Given the description of an element on the screen output the (x, y) to click on. 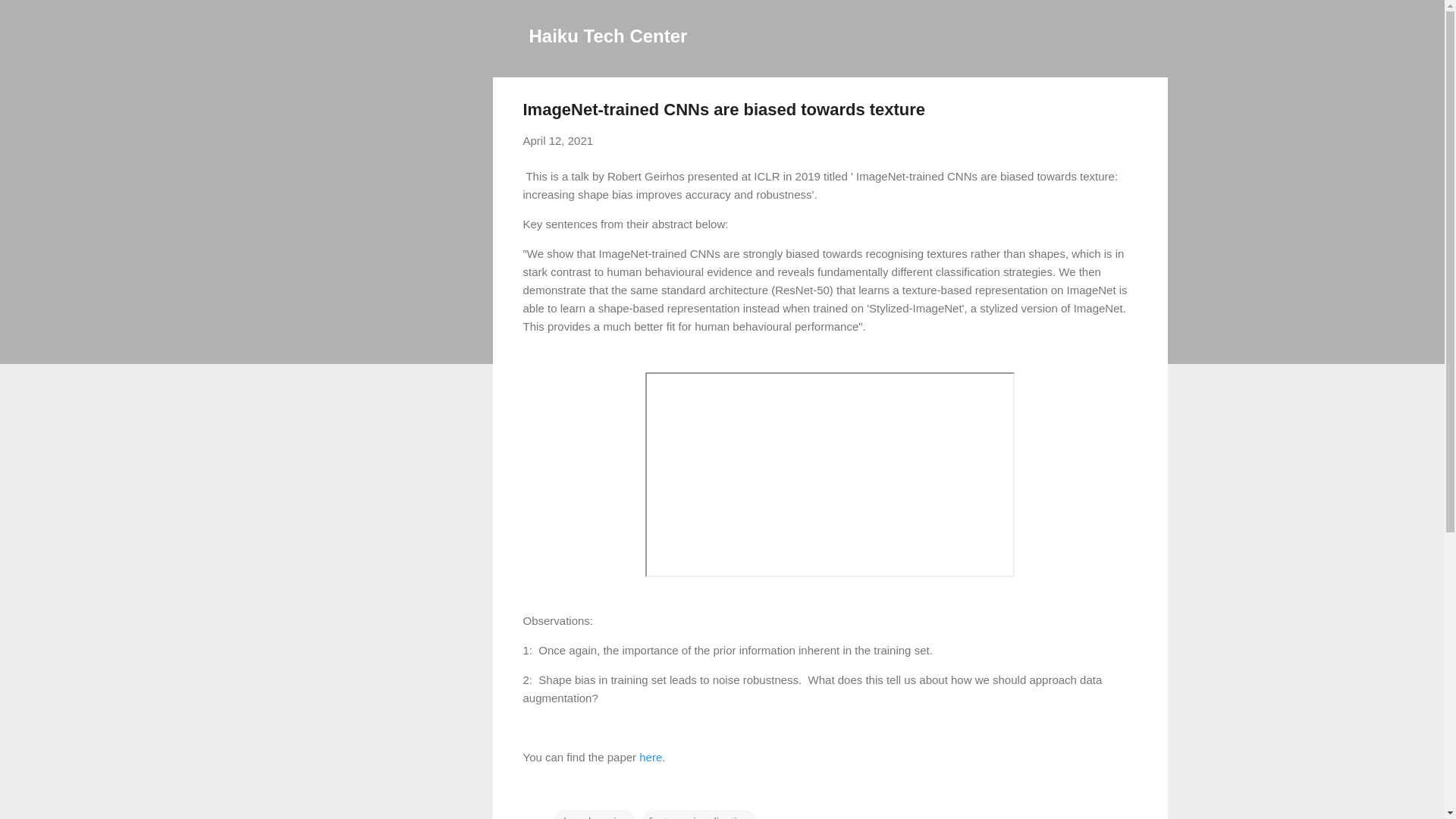
here (650, 757)
Haiku Tech Center (608, 35)
permanent link (558, 140)
deep learning (594, 814)
April 12, 2021 (558, 140)
feature visualization (699, 814)
Search (29, 18)
